Given the description of an element on the screen output the (x, y) to click on. 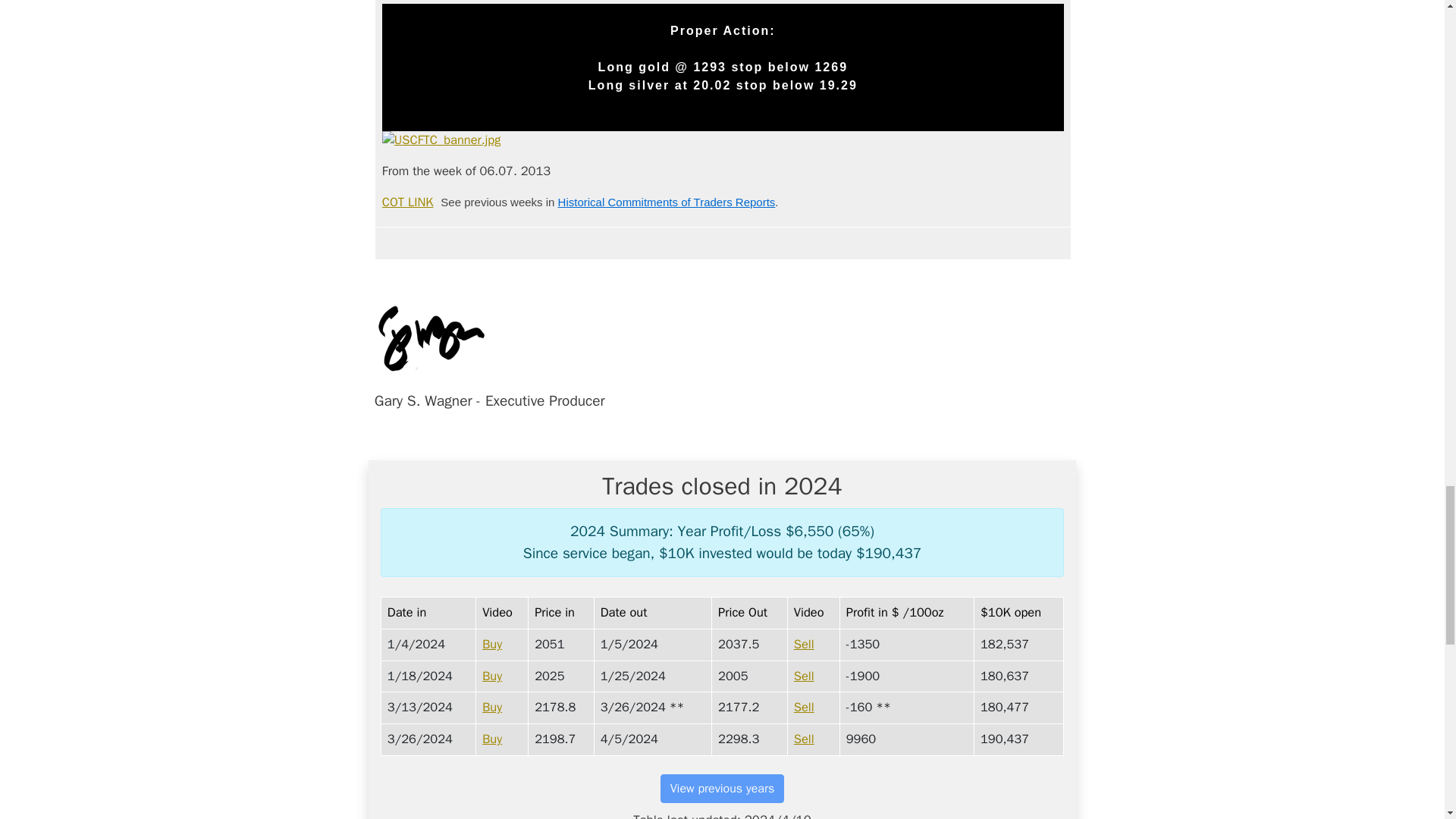
Buy (493, 706)
View previous years (722, 788)
Historical Commitments of Traders Reports (666, 201)
Sell (806, 643)
View previous years (722, 787)
Buy (493, 675)
Historical Commitments of Traders Reports (666, 201)
Buy (493, 643)
Sell (806, 675)
Buy (493, 738)
Sell (806, 706)
Sell (806, 738)
COT LINK (407, 201)
